Given the description of an element on the screen output the (x, y) to click on. 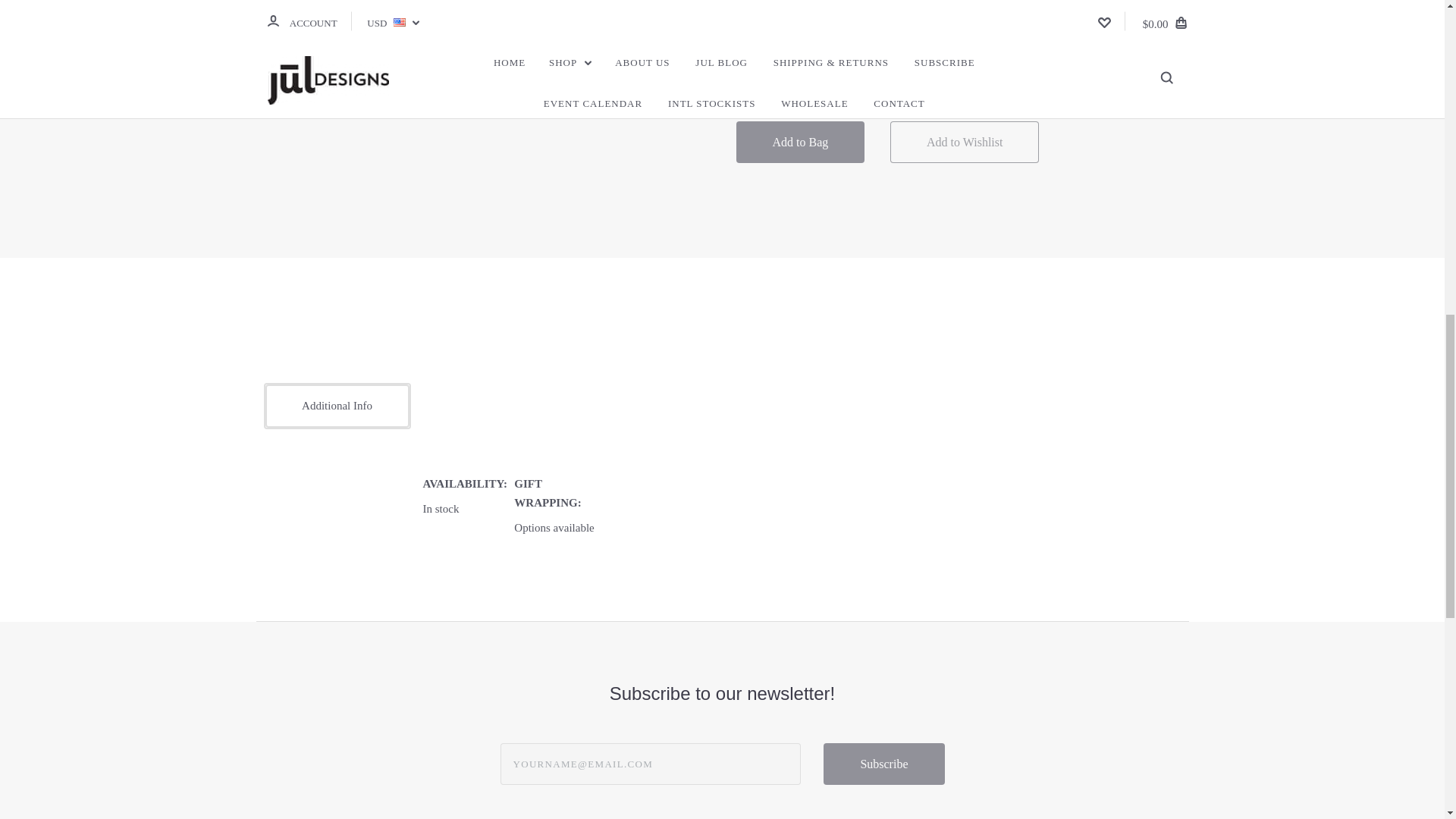
twitter (967, 53)
close (1418, 21)
facebook (921, 53)
Subscribe (883, 763)
pinterest (991, 53)
1 (797, 54)
email (943, 53)
